Given the description of an element on the screen output the (x, y) to click on. 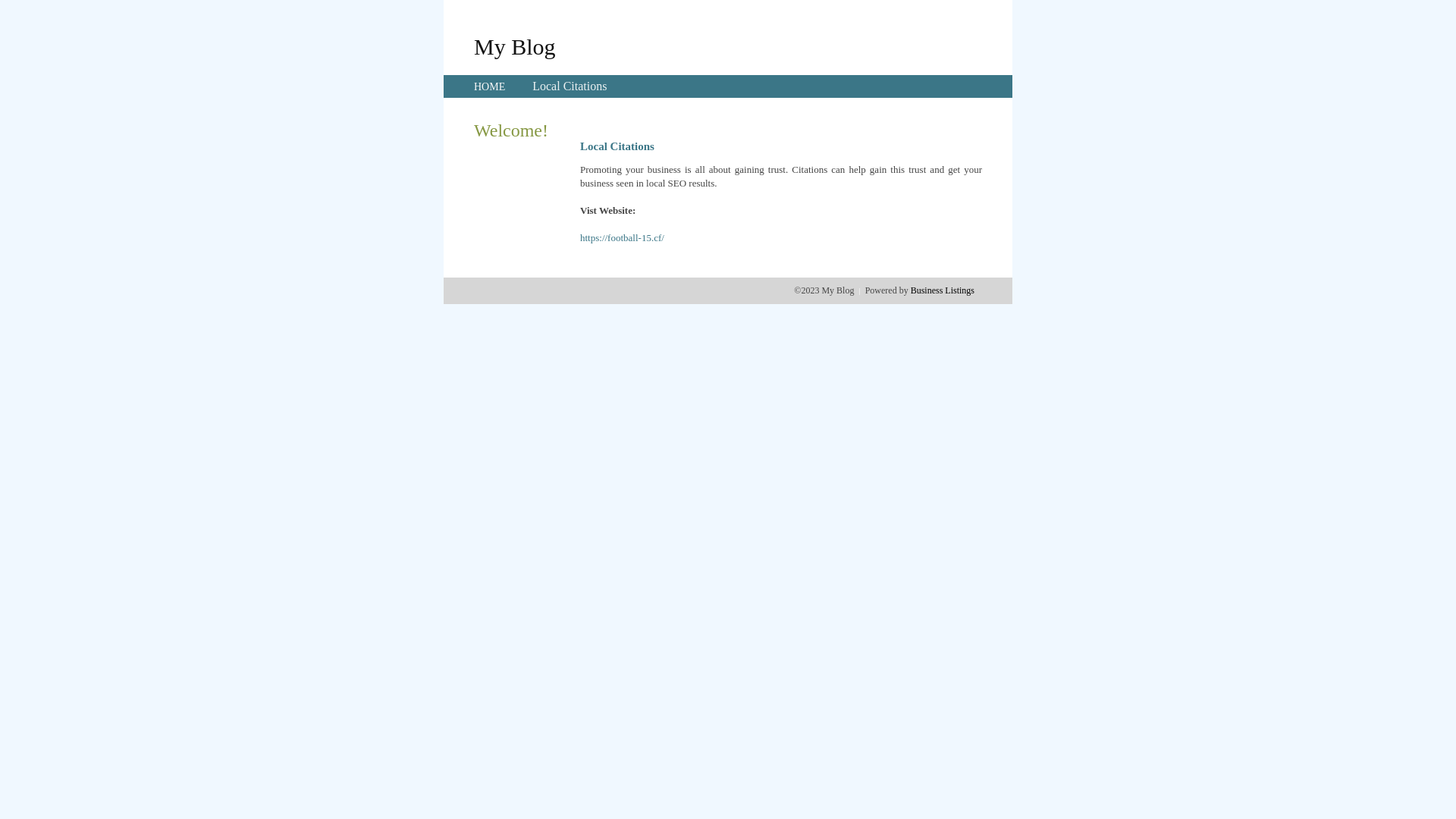
Local Citations Element type: text (569, 85)
My Blog Element type: text (514, 46)
https://football-15.cf/ Element type: text (622, 237)
Business Listings Element type: text (942, 290)
HOME Element type: text (489, 86)
